Given the description of an element on the screen output the (x, y) to click on. 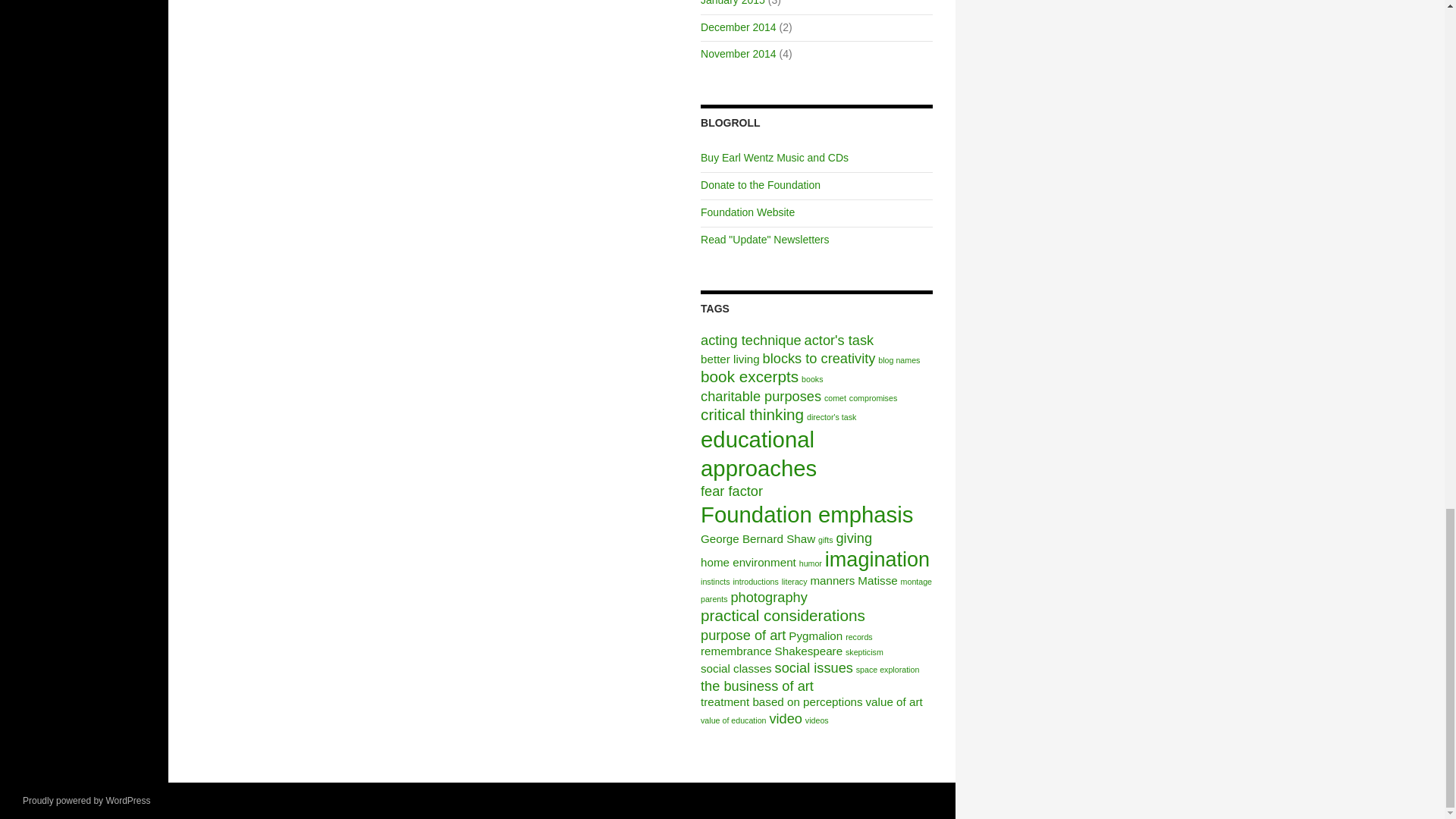
Donate to the foundation here (760, 184)
Check out our quarterly newsletters (764, 239)
Shop Here and Support the Foundation (774, 157)
